Given the description of an element on the screen output the (x, y) to click on. 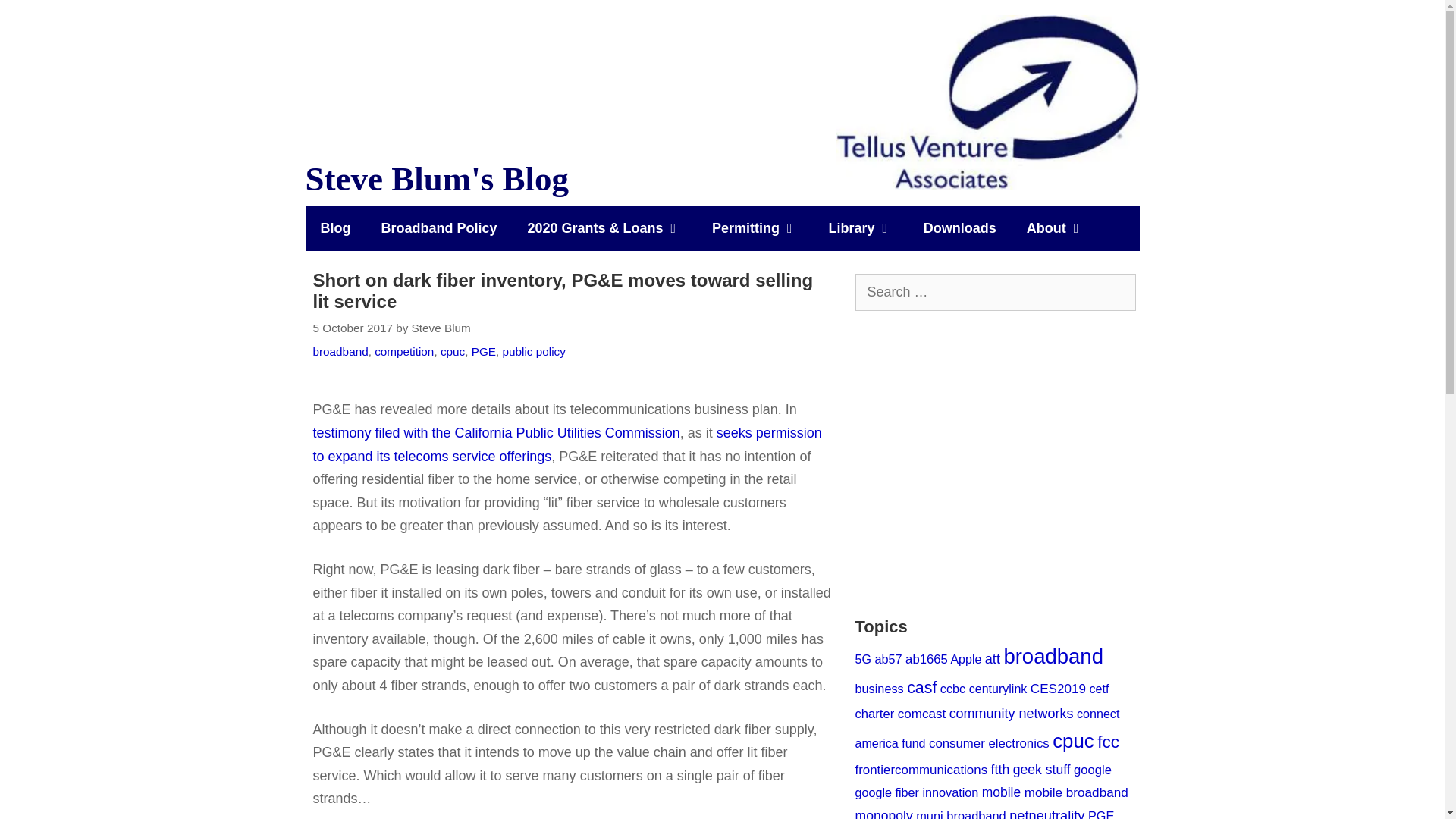
71 topics (888, 658)
Steve Blum's Blog (986, 101)
Search for: (995, 292)
47 topics (863, 658)
Steve Blum's Blog (986, 102)
Blog (334, 227)
Broadband Policy (438, 227)
Je Suis Charlie (995, 462)
